Given the description of an element on the screen output the (x, y) to click on. 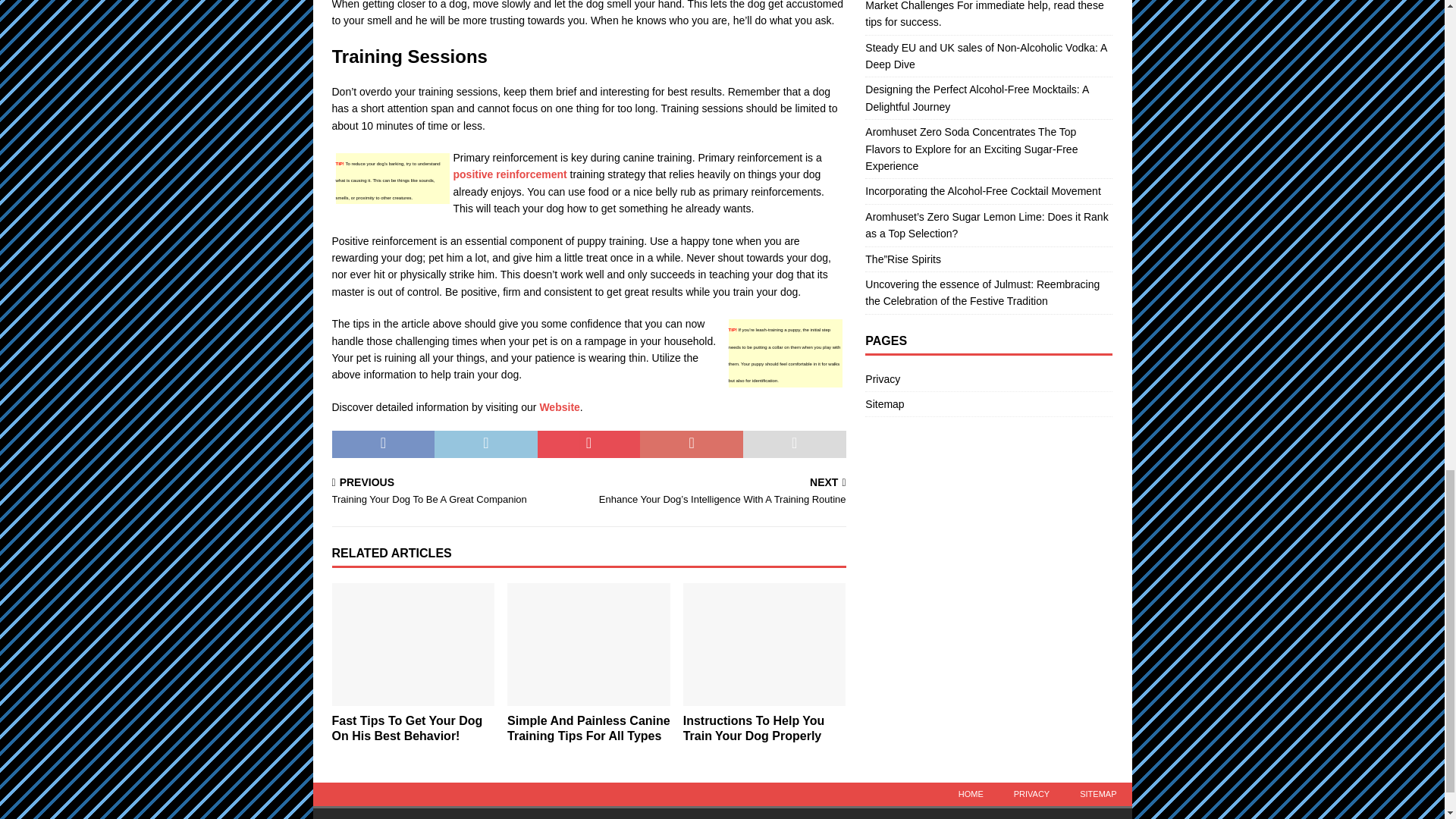
Website (457, 491)
Fast Tips To Get Your Dog On His Best Behavior! (558, 407)
Simple And Painless Canine Training Tips For All Types (407, 728)
positive reinforcement (587, 728)
